Given the description of an element on the screen output the (x, y) to click on. 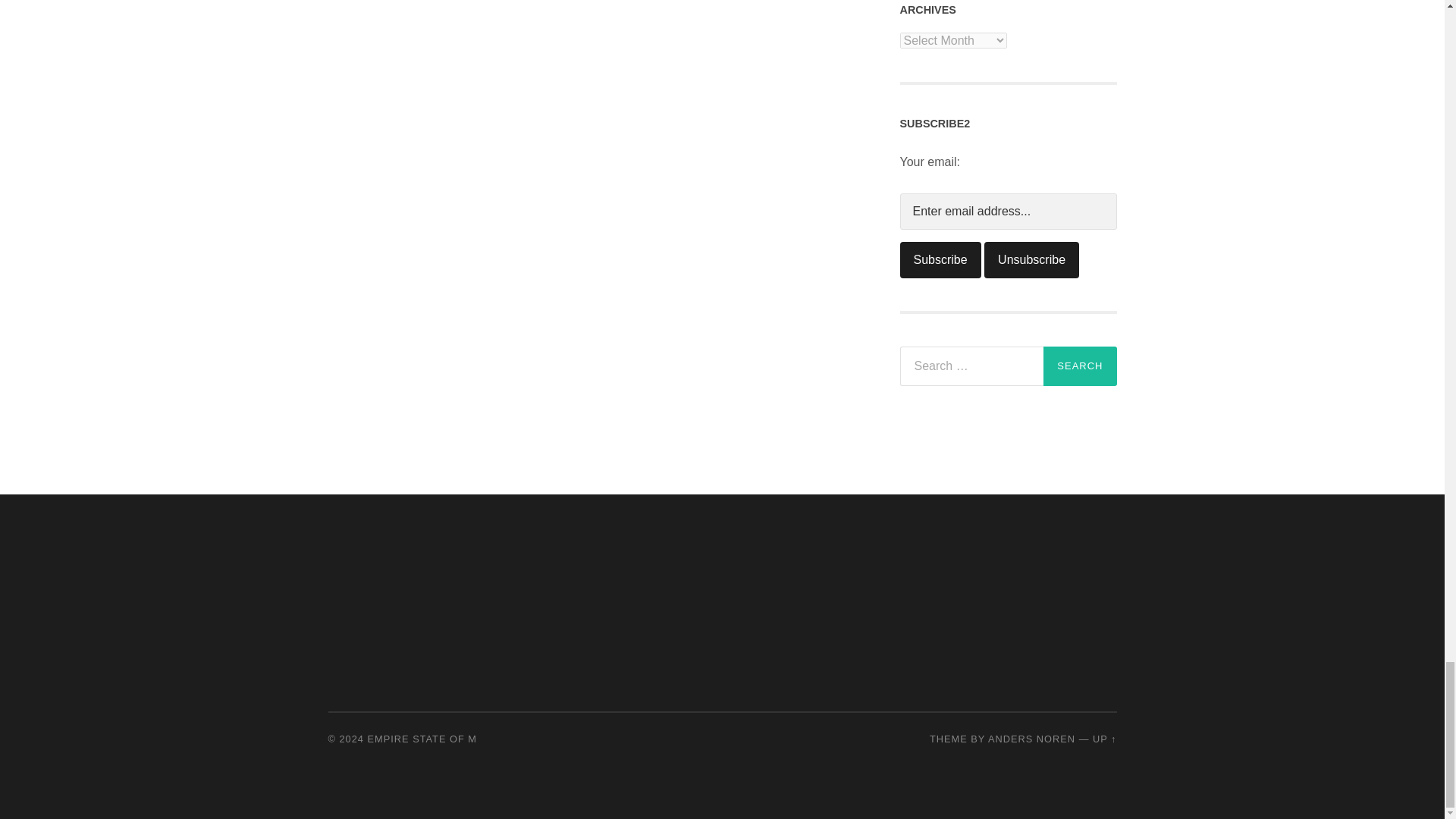
To the top (1104, 738)
Subscribe (939, 259)
Search (1079, 365)
Unsubscribe (1031, 259)
Enter email address... (1007, 211)
Search (1079, 365)
